Given the description of an element on the screen output the (x, y) to click on. 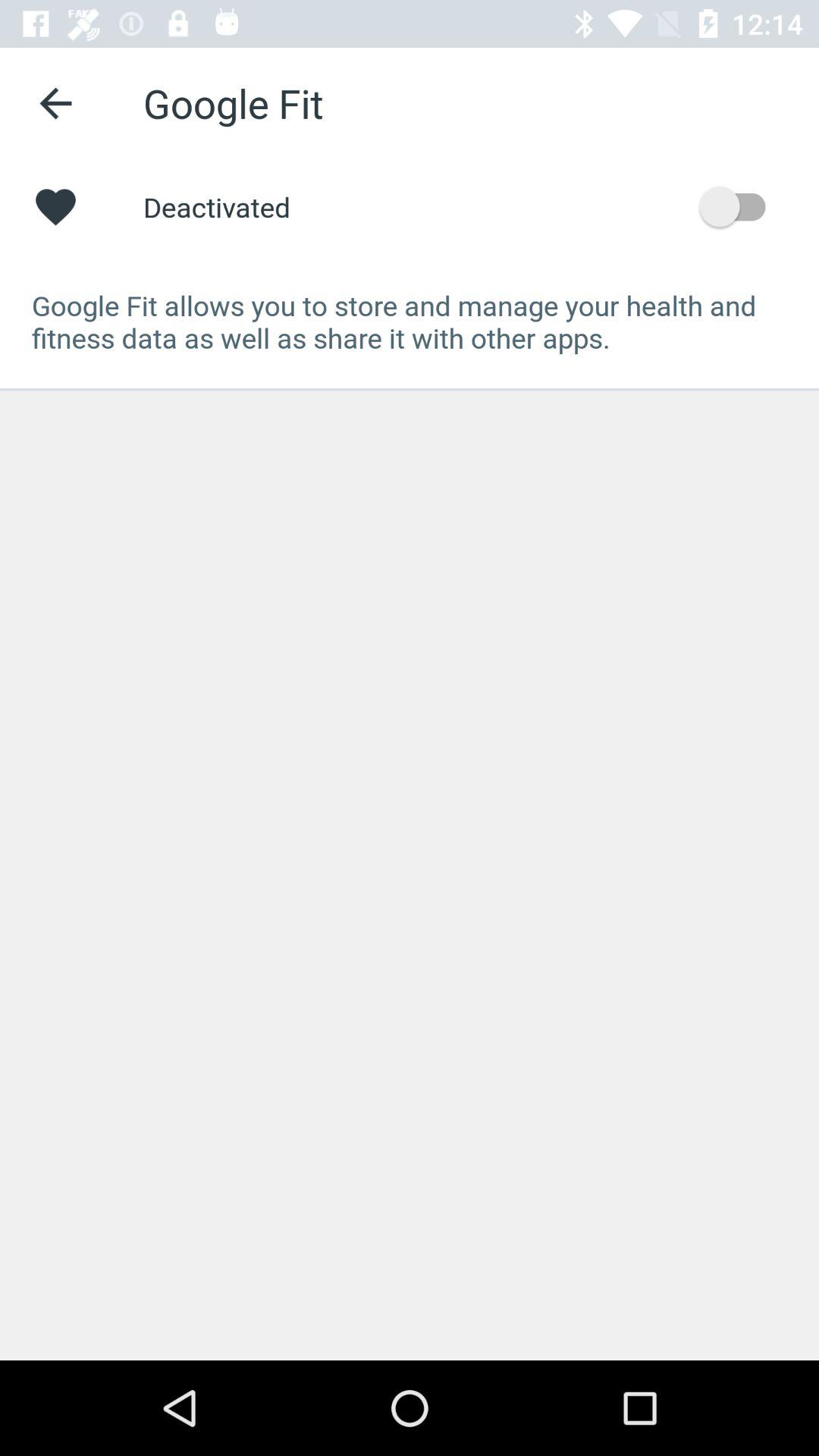
open the item to the right of deactivated (739, 206)
